Given the description of an element on the screen output the (x, y) to click on. 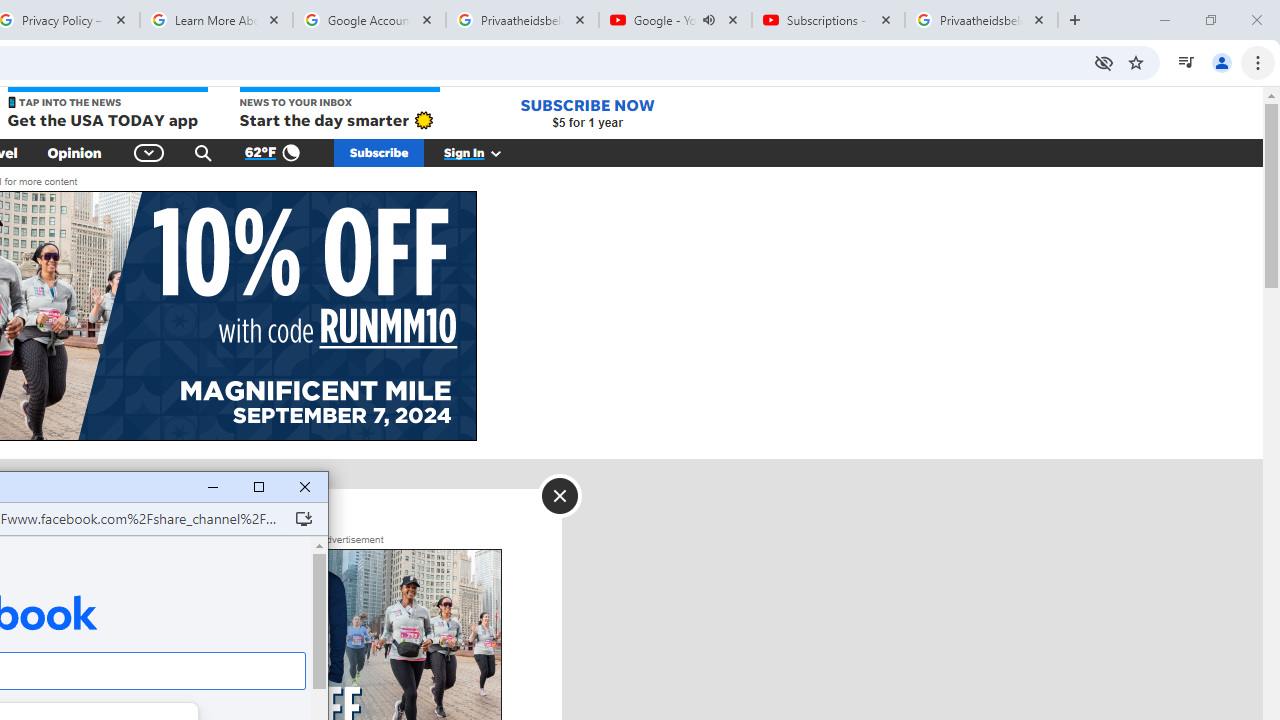
Sign In (483, 152)
Global Navigation (149, 152)
Opinion (74, 152)
SUBSCRIBE NOW $5 for 1 year (587, 112)
Maximize (258, 487)
Install Facebook (303, 518)
